Given the description of an element on the screen output the (x, y) to click on. 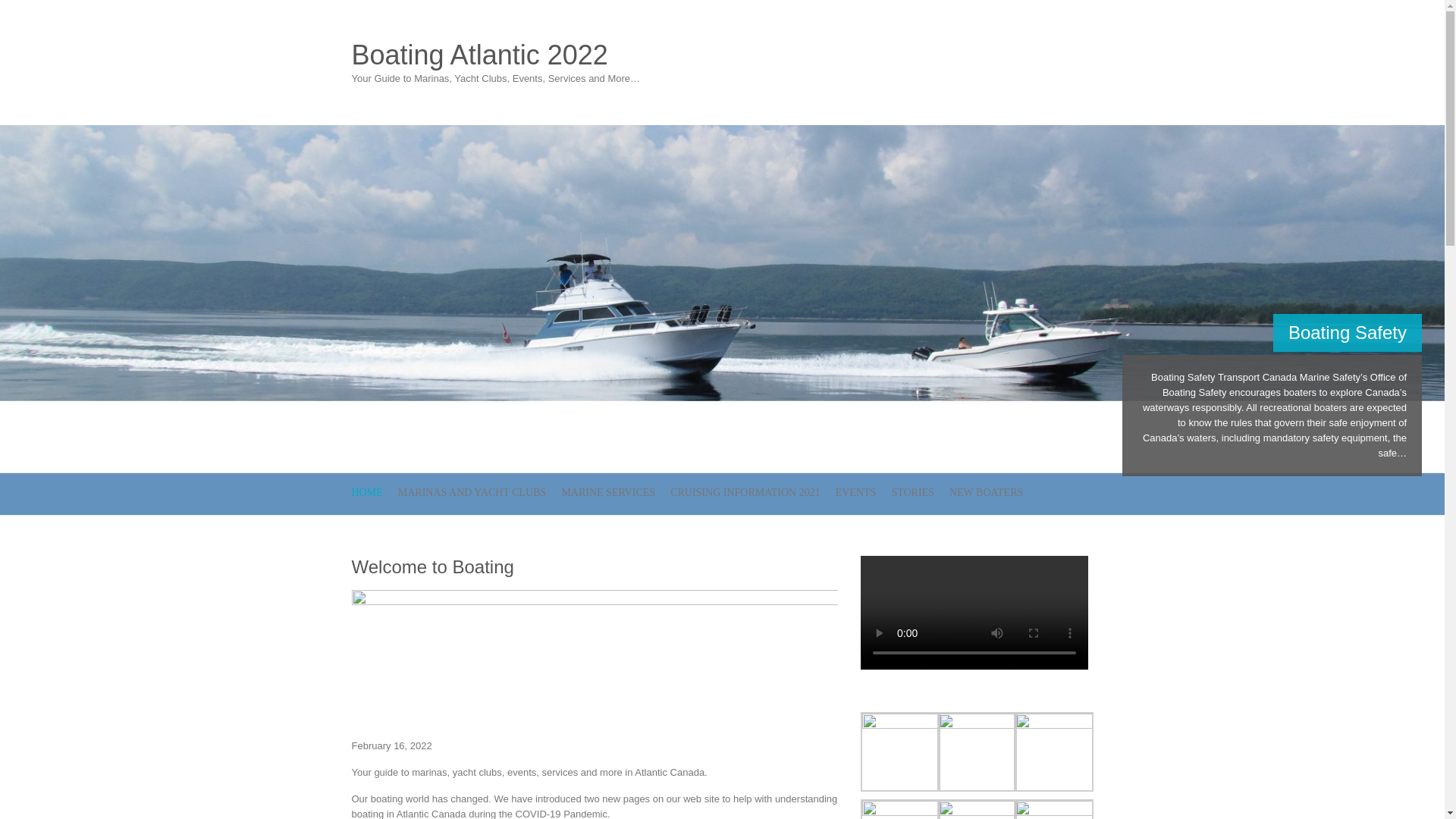
CRUISING INFORMATION 2021 (745, 494)
MARINE SERVICES (607, 494)
STORIES (912, 494)
Boating Atlantic 2022 (496, 55)
Boating Safety (1347, 332)
Boating Atlantic 2022 (496, 55)
EVENTS (855, 494)
NEW BOATERS (986, 494)
MARINAS AND YACHT CLUBS (472, 494)
